Given the description of an element on the screen output the (x, y) to click on. 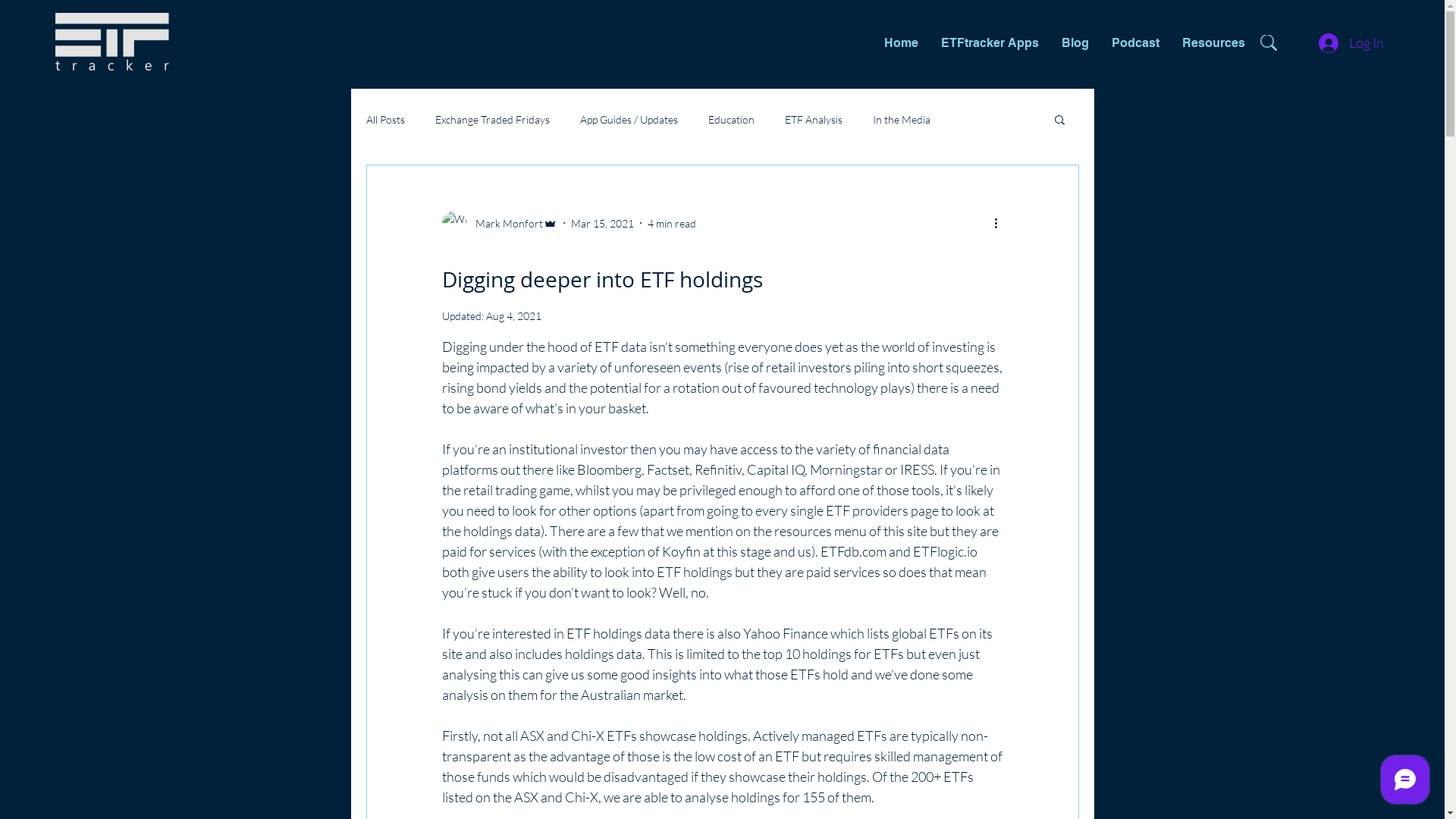
In the Media Element type: text (900, 118)
Blog Element type: text (1075, 42)
Podcast Element type: text (1135, 42)
Education Element type: text (731, 118)
Log In Element type: text (1351, 42)
Home Element type: text (900, 42)
App Guides / Updates Element type: text (628, 118)
Mark Monfort Element type: text (498, 222)
All Posts Element type: text (384, 118)
Exchange Traded Fridays Element type: text (492, 118)
ETF Analysis Element type: text (812, 118)
